Given the description of an element on the screen output the (x, y) to click on. 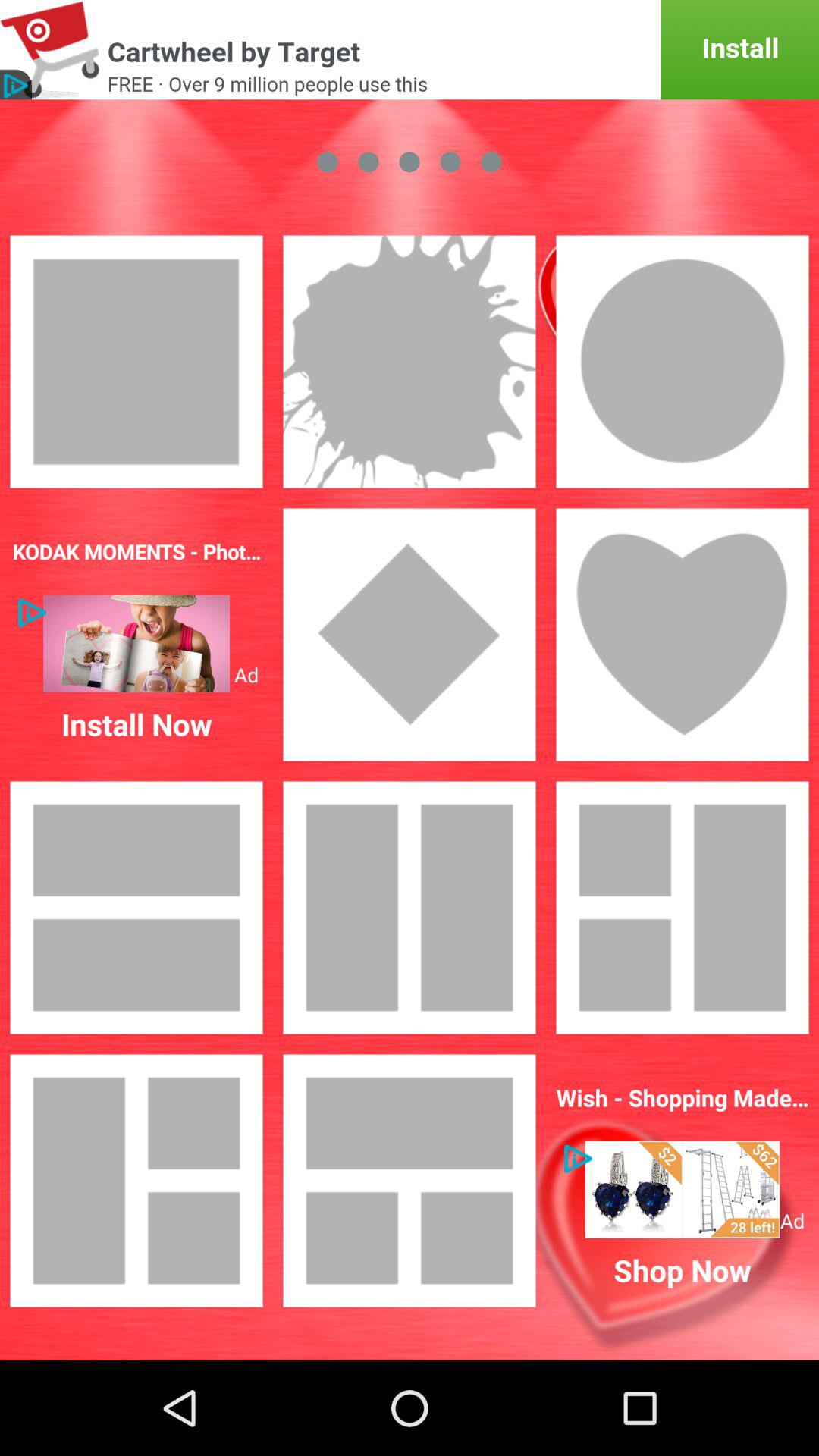
advertisement (409, 49)
